Given the description of an element on the screen output the (x, y) to click on. 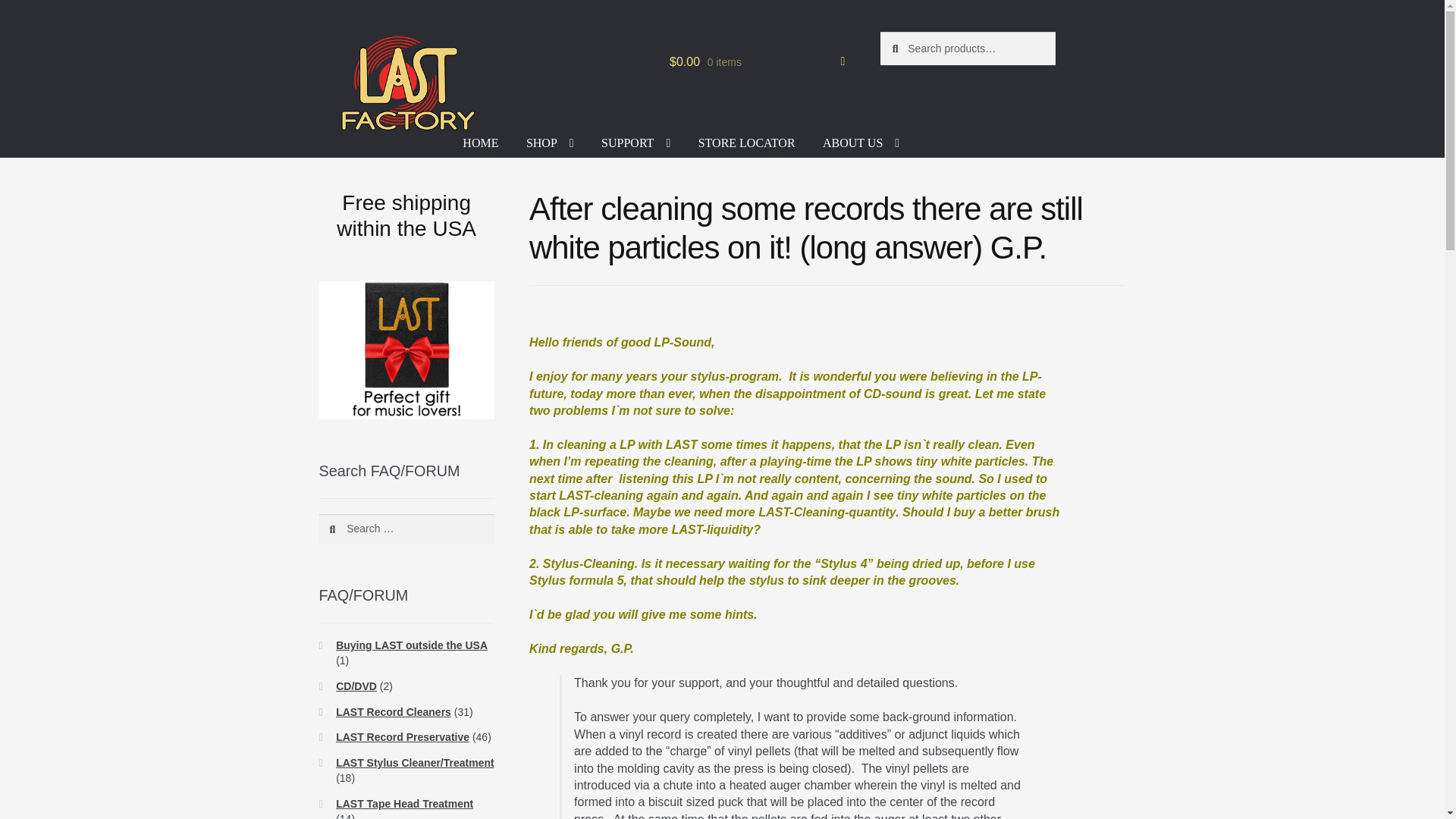
SHOP (549, 146)
LAST Record Cleaners (422, 119)
Home (337, 119)
STORE LOCATOR (746, 146)
View your shopping cart (756, 61)
SUPPORT (635, 146)
ABOUT US (860, 146)
HOME (480, 146)
